Given the description of an element on the screen output the (x, y) to click on. 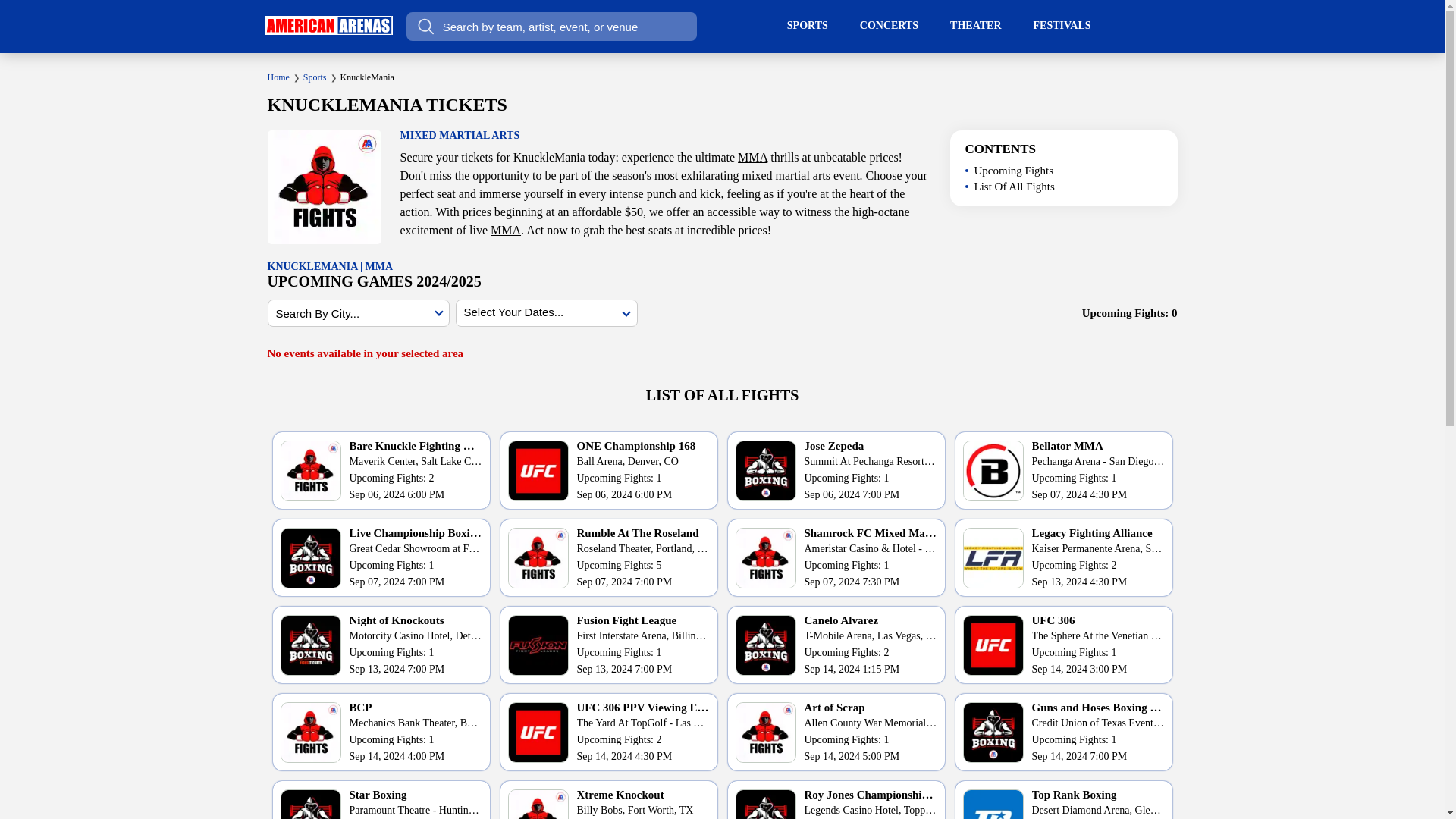
Sports (314, 77)
FESTIVALS (1062, 25)
MMA (505, 229)
SPORTS (807, 25)
